Given the description of an element on the screen output the (x, y) to click on. 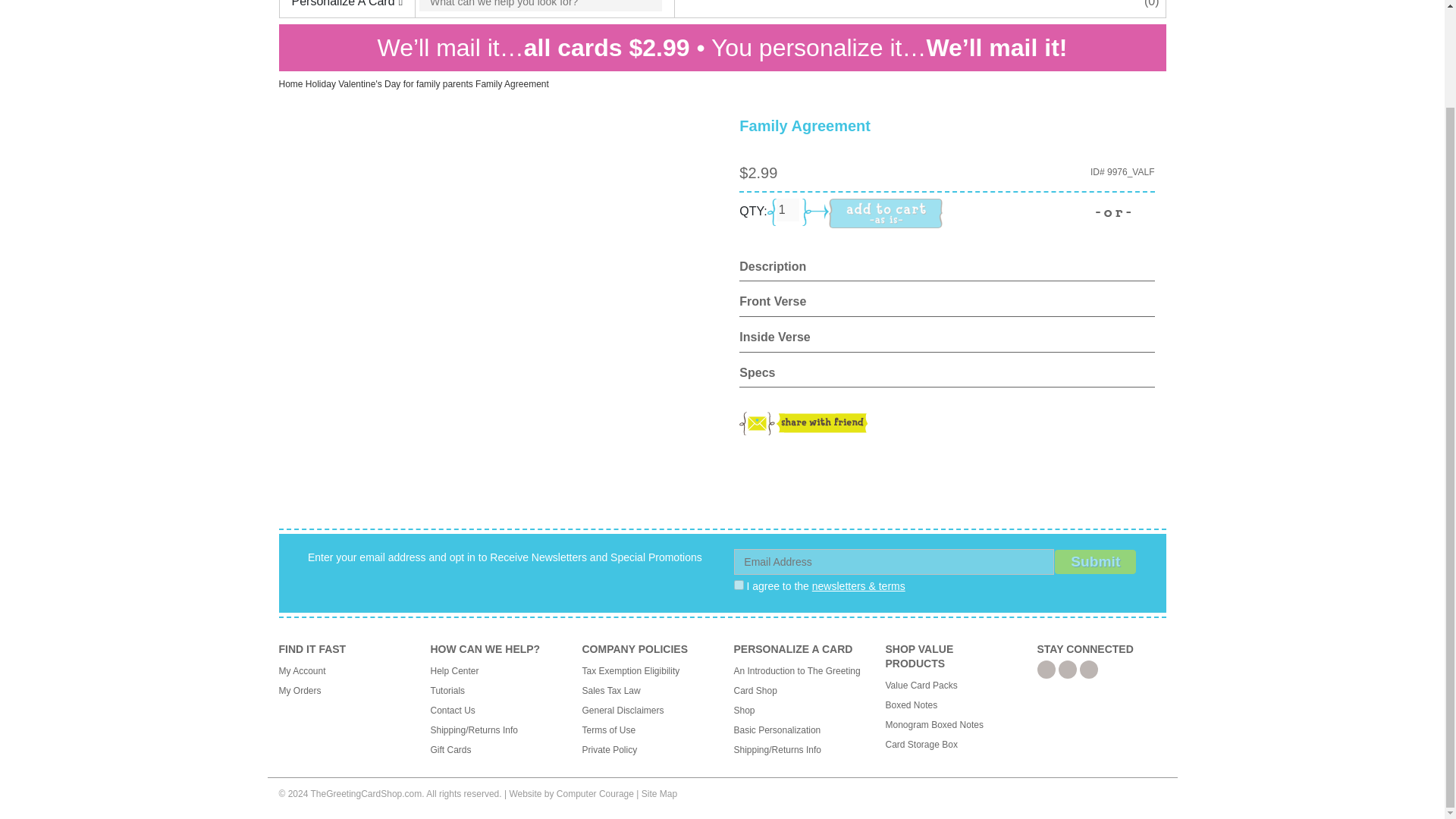
Cart (1151, 3)
Search (540, 5)
1 (738, 584)
Submit (1095, 561)
1 (787, 210)
Personalize A Card (346, 8)
